Given the description of an element on the screen output the (x, y) to click on. 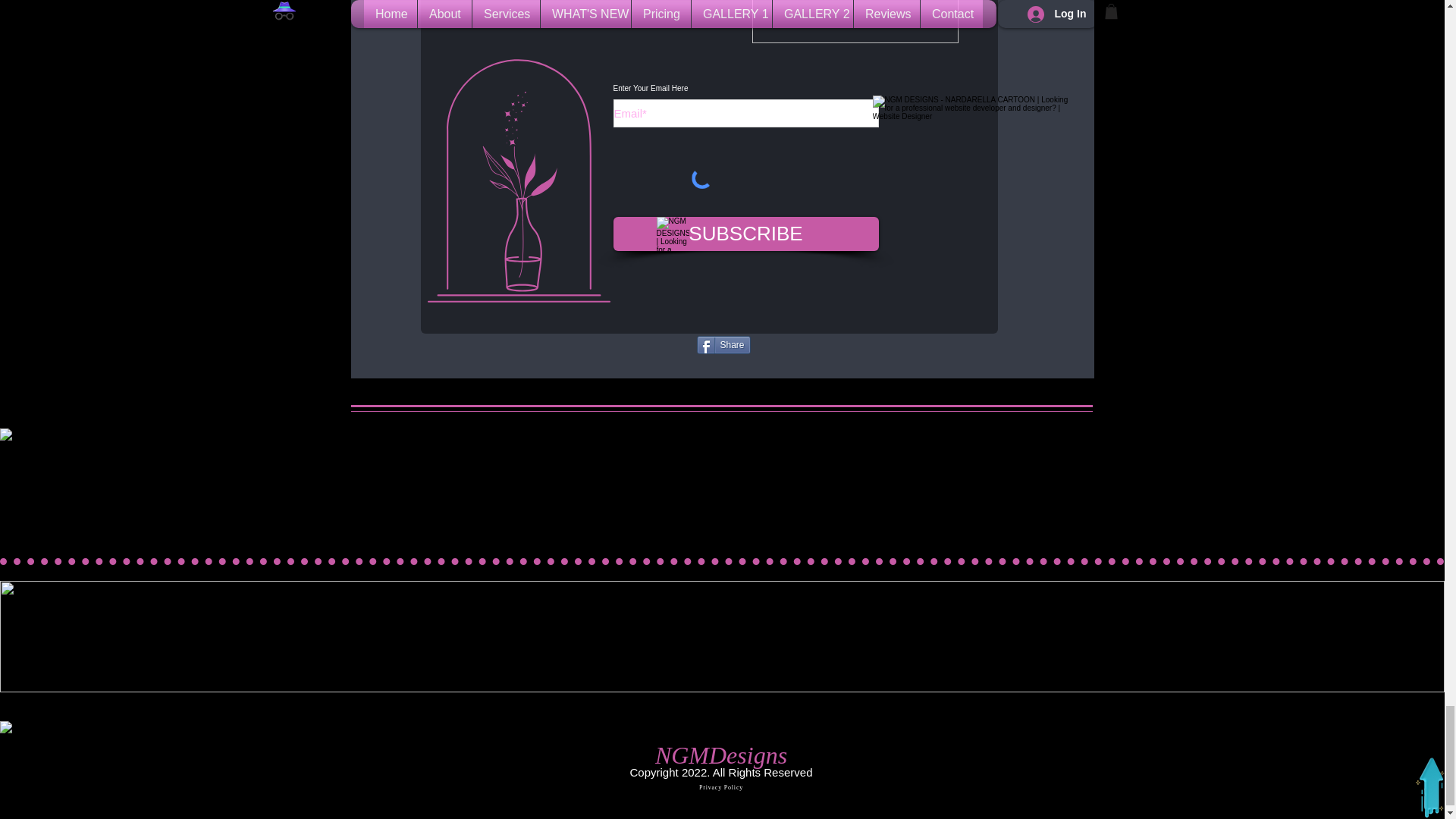
Share (722, 344)
Facebook Like (791, 344)
NGM DESIGNS (672, 233)
NGM DESIGNS SIGNATURE4PINK.png (855, 21)
Twitter Follow (653, 344)
